Given the description of an element on the screen output the (x, y) to click on. 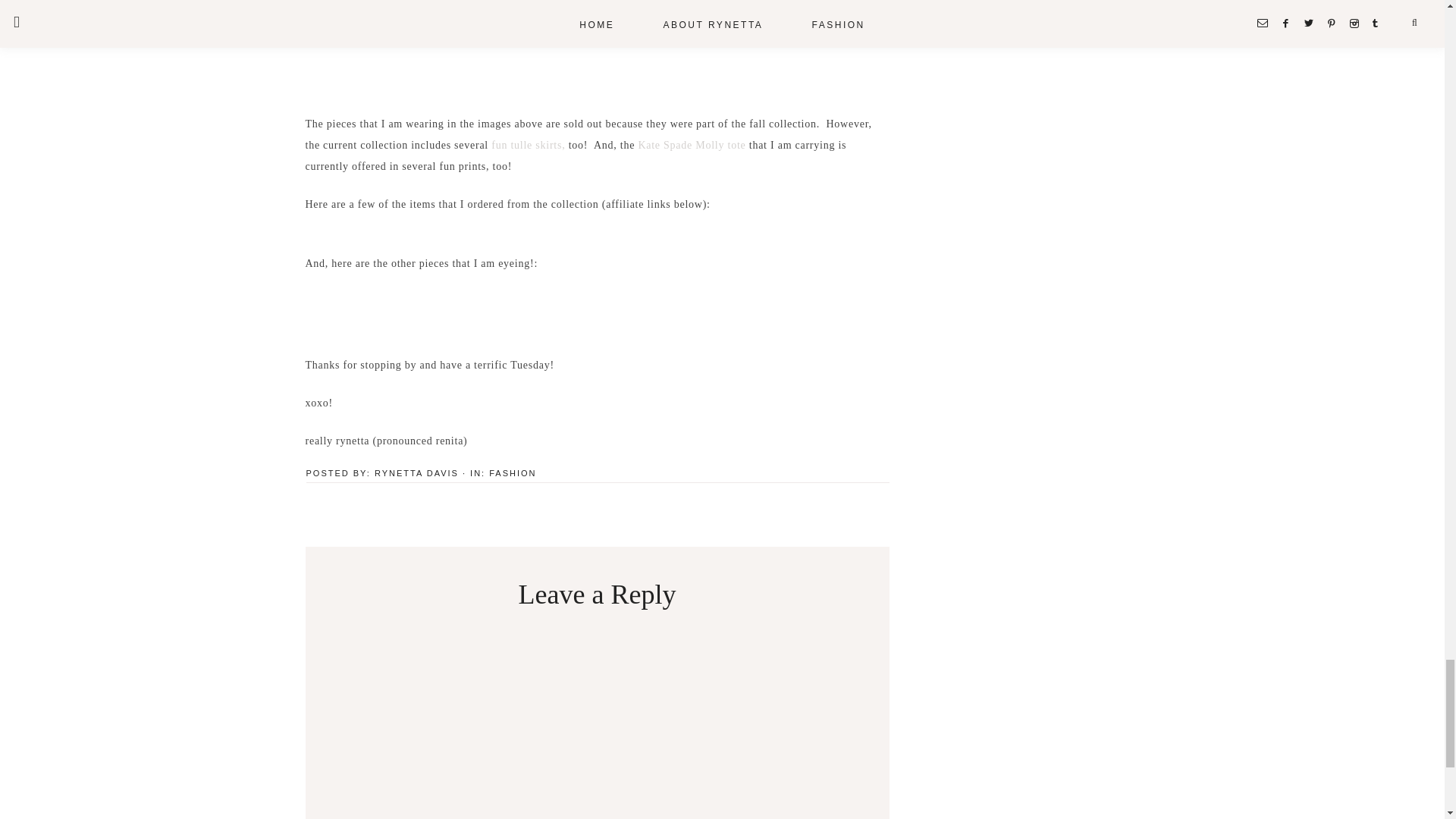
fun tulle skirts, (528, 144)
FASHION (512, 472)
Kate Spade Molly tote (691, 144)
RYNETTA DAVIS (416, 472)
Comment Form (596, 721)
